Given the description of an element on the screen output the (x, y) to click on. 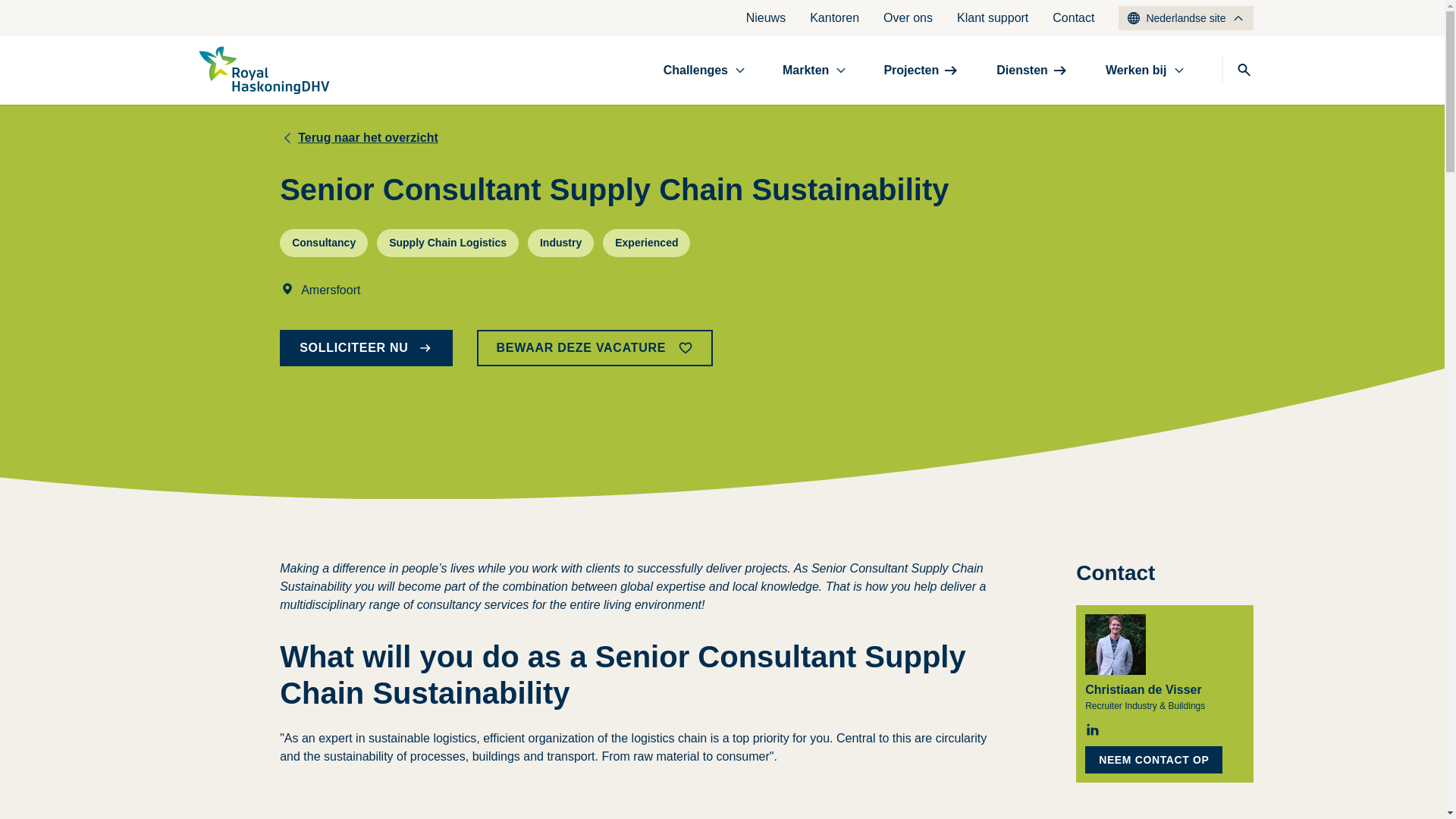
Kantoren (834, 17)
Projecten (921, 70)
Markten (815, 70)
Over ons (908, 17)
Nederlandse site (1185, 17)
Nieuws (765, 17)
Werken bij (1145, 70)
Challenges (704, 70)
Contact (1073, 17)
Diensten (1031, 70)
